Given the description of an element on the screen output the (x, y) to click on. 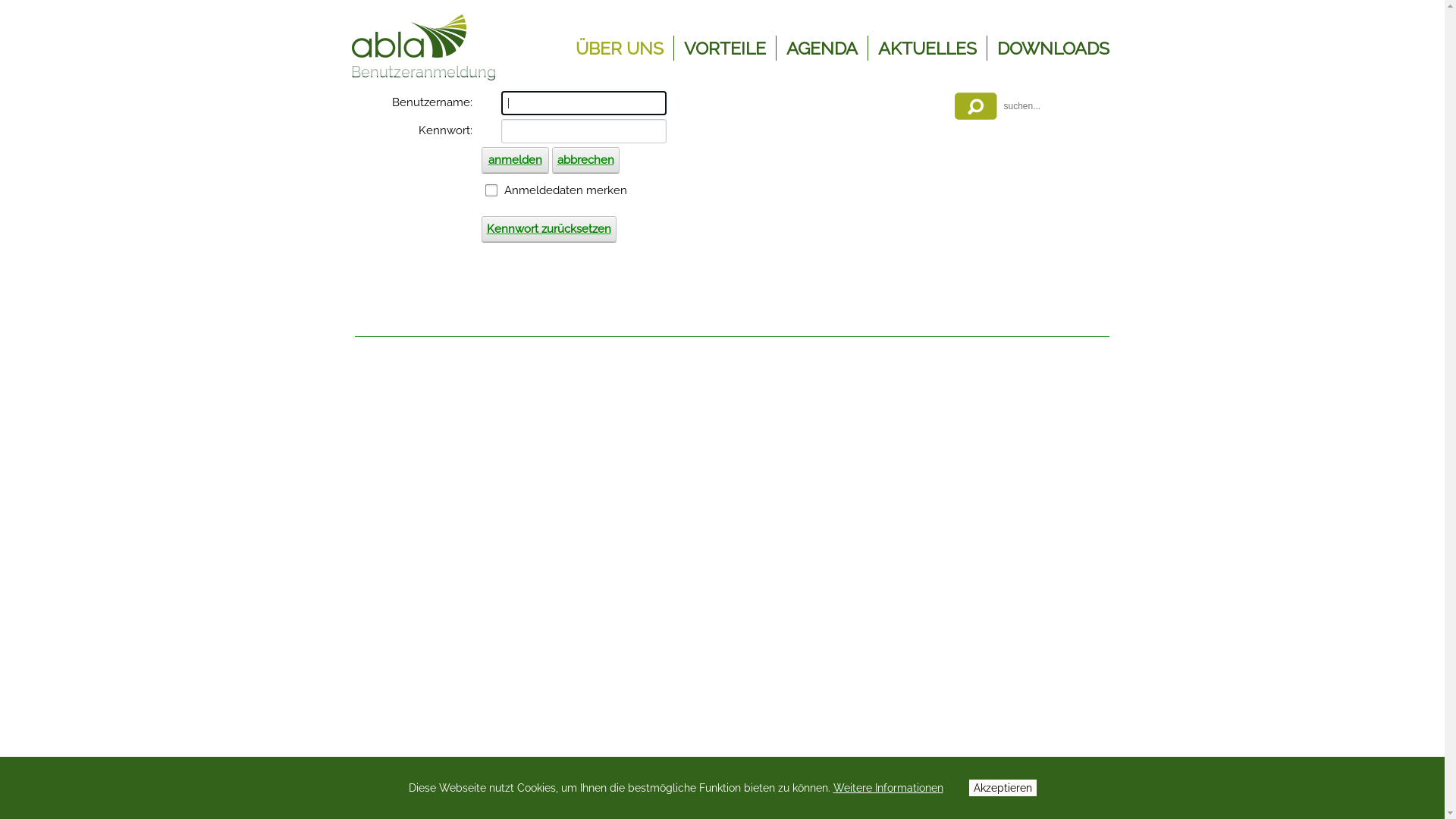
Suchtext entfernen Element type: hover (1094, 126)
Akzeptieren Element type: text (1002, 787)
anmelden Element type: text (514, 159)
abbrechen Element type: text (585, 159)
VORTEILE Element type: text (724, 47)
anmelden Element type: text (1415, 14)
ABLA Logo Element type: hover (408, 29)
Weitere Informationen Element type: text (887, 787)
AKTUELLES Element type: text (927, 47)
AGENDA Element type: text (820, 47)
DOWNLOADS Element type: text (1052, 47)
